Given the description of an element on the screen output the (x, y) to click on. 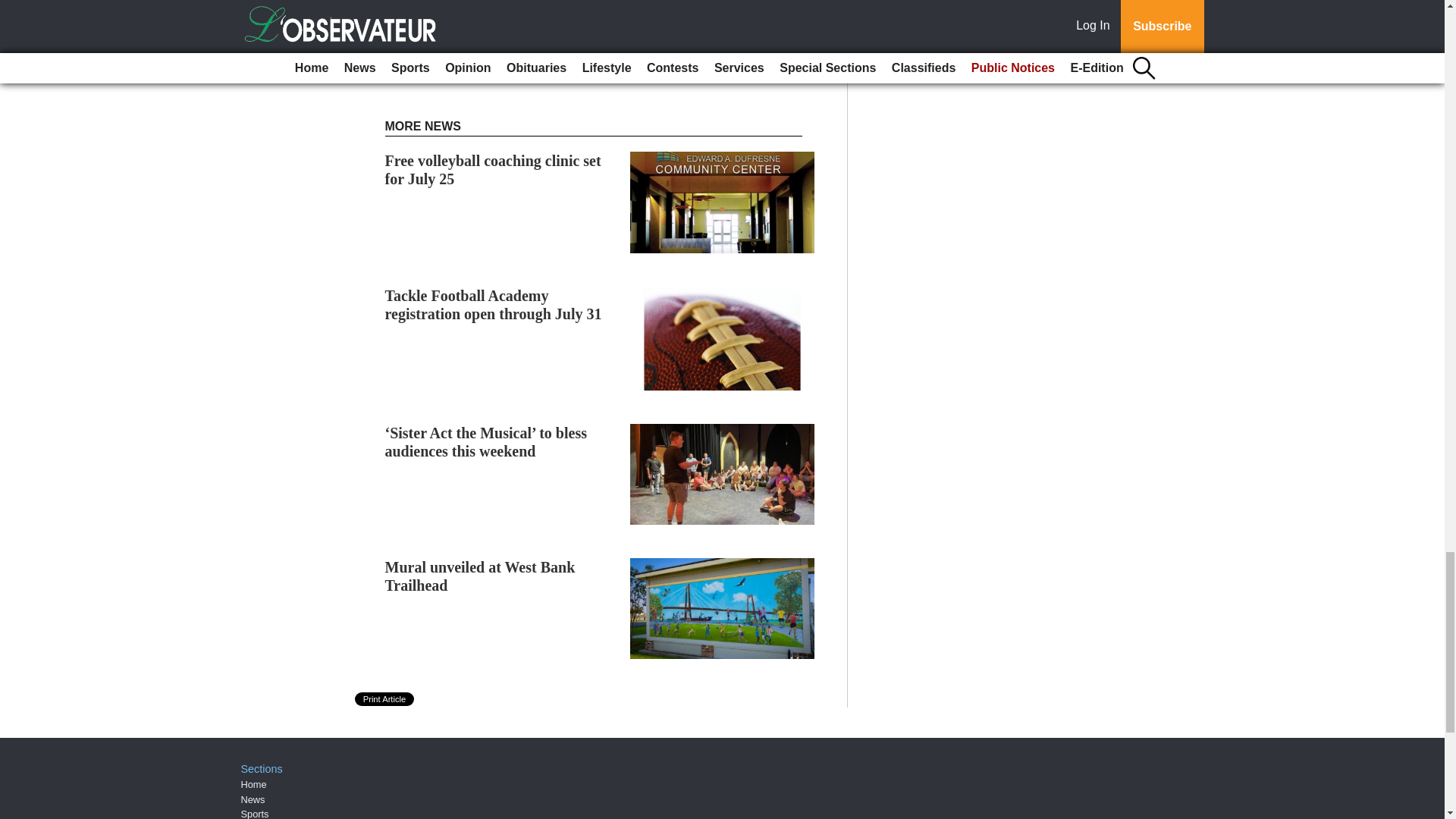
Tackle Football Academy registration open through July 31 (493, 304)
Mural unveiled at West Bank Trailhead (480, 575)
Tackle Football Academy registration open through July 31 (493, 304)
Print Article (384, 698)
Free volleyball coaching clinic set for July 25 (493, 169)
Free volleyball coaching clinic set for July 25 (493, 169)
Mural unveiled at West Bank Trailhead (480, 575)
